Given the description of an element on the screen output the (x, y) to click on. 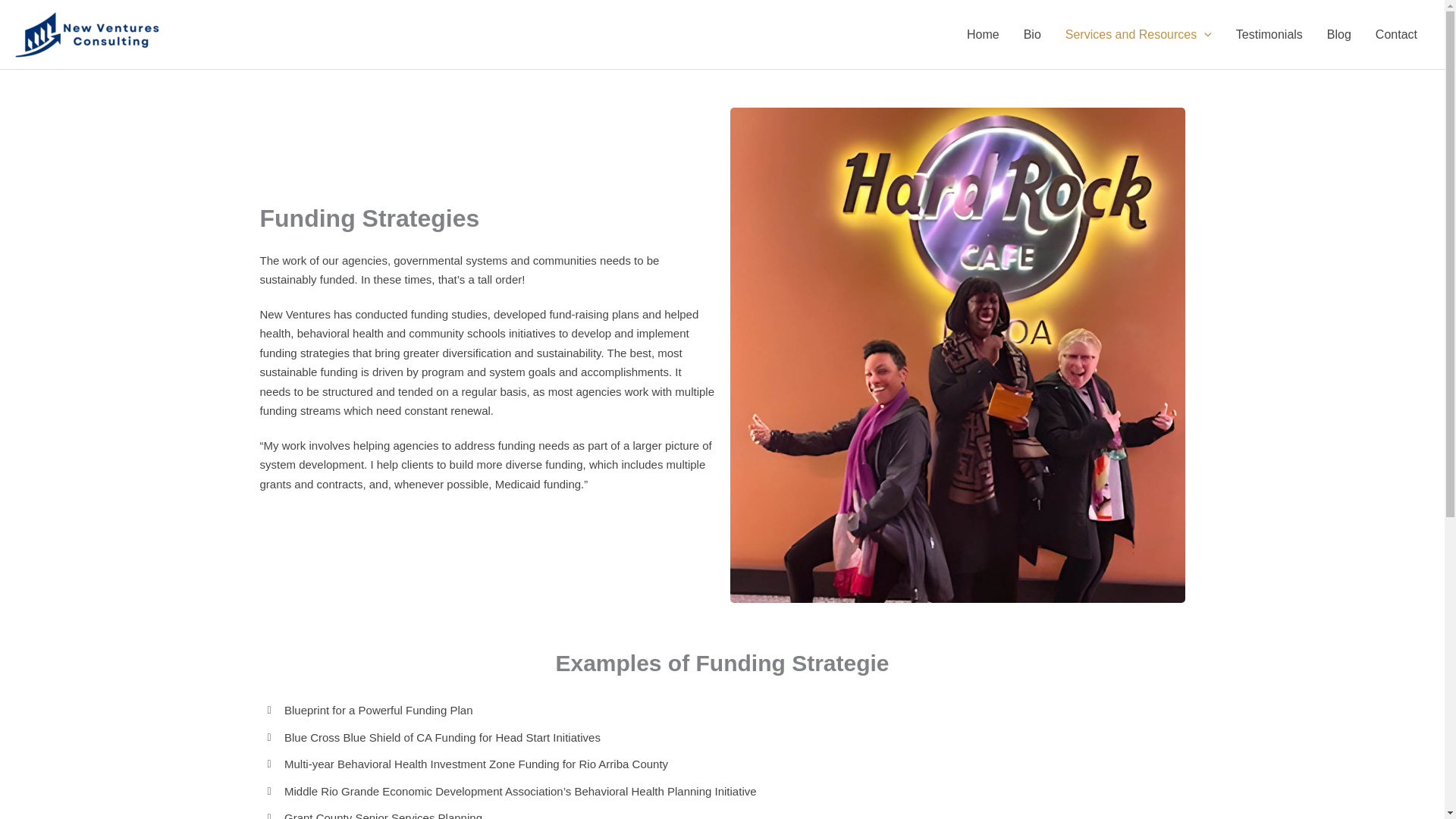
Home (983, 34)
Bio (1031, 34)
Contact (1395, 34)
Services and Resources (1138, 34)
Blog (1338, 34)
Testimonials (1269, 34)
